Given the description of an element on the screen output the (x, y) to click on. 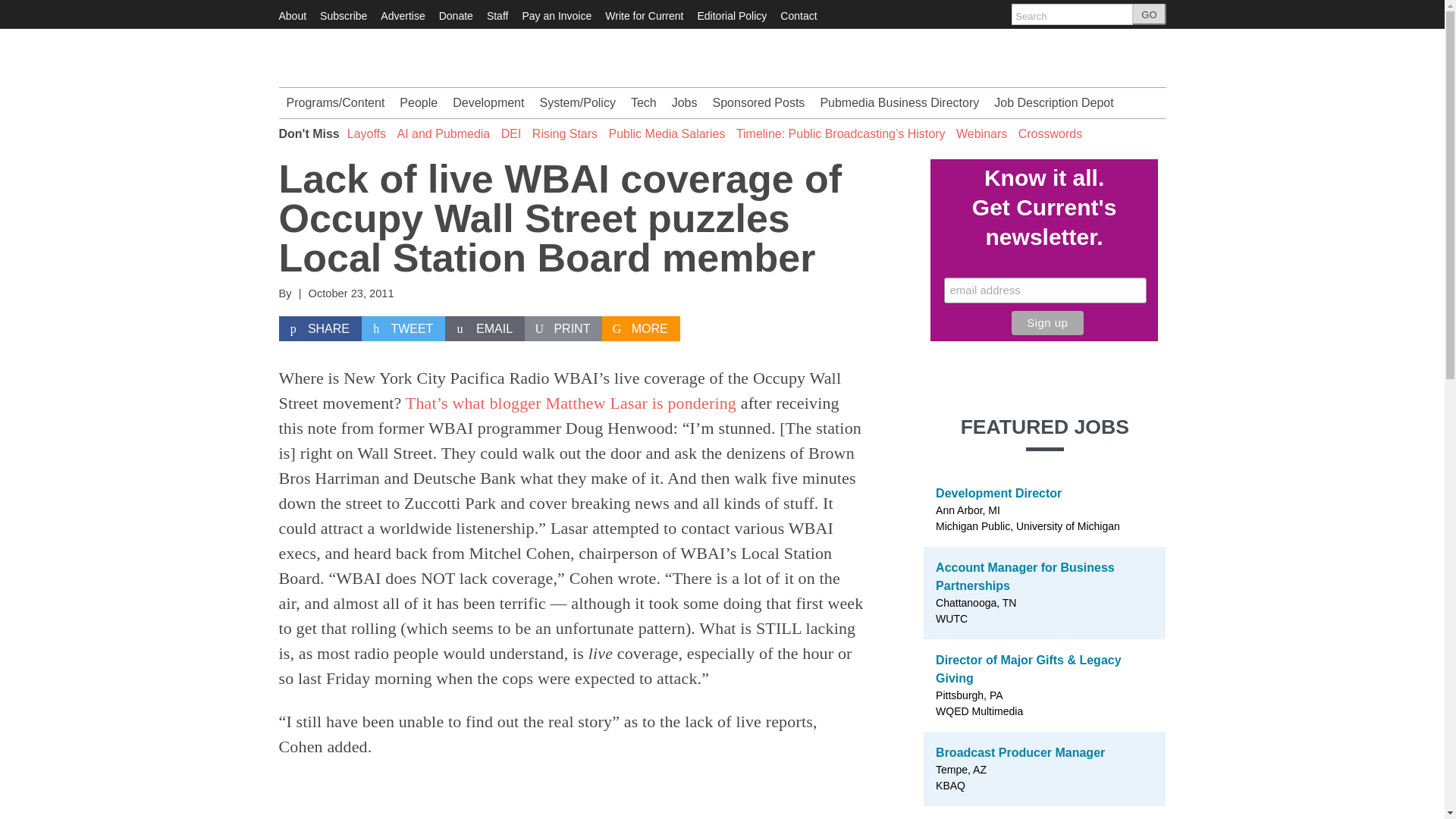
Pay an Invoice (556, 15)
About (293, 15)
Print this article (563, 329)
Contact (798, 15)
Donate (456, 15)
Write for Current (643, 15)
Subscribe (343, 15)
Sign up (1047, 322)
Advertise (402, 15)
People (418, 102)
